Given the description of an element on the screen output the (x, y) to click on. 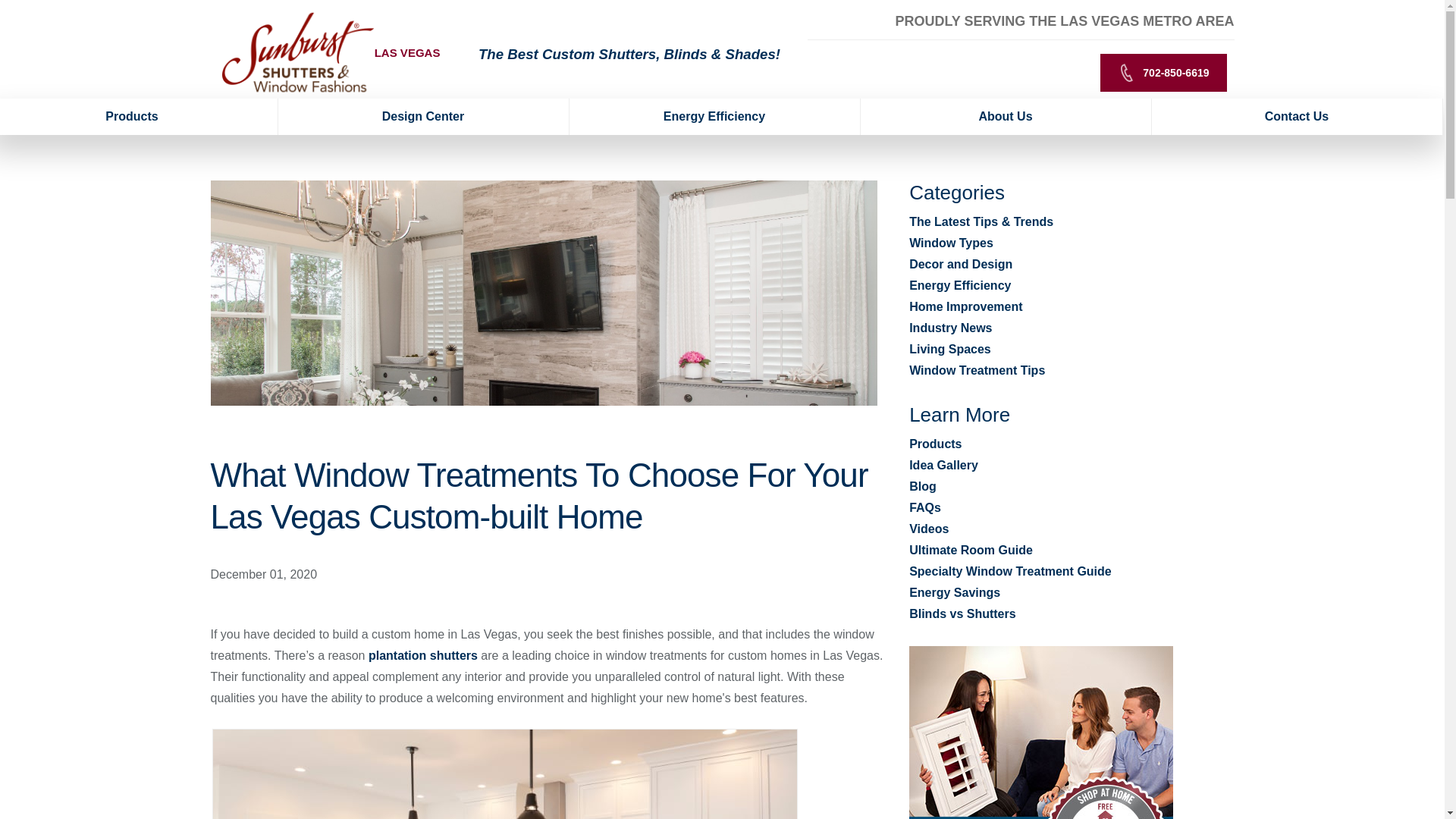
Design Center (423, 116)
Sunburst Shutters Las Vegas Home (297, 52)
Products (139, 116)
702-850-6619 (1162, 72)
